Given the description of an element on the screen output the (x, y) to click on. 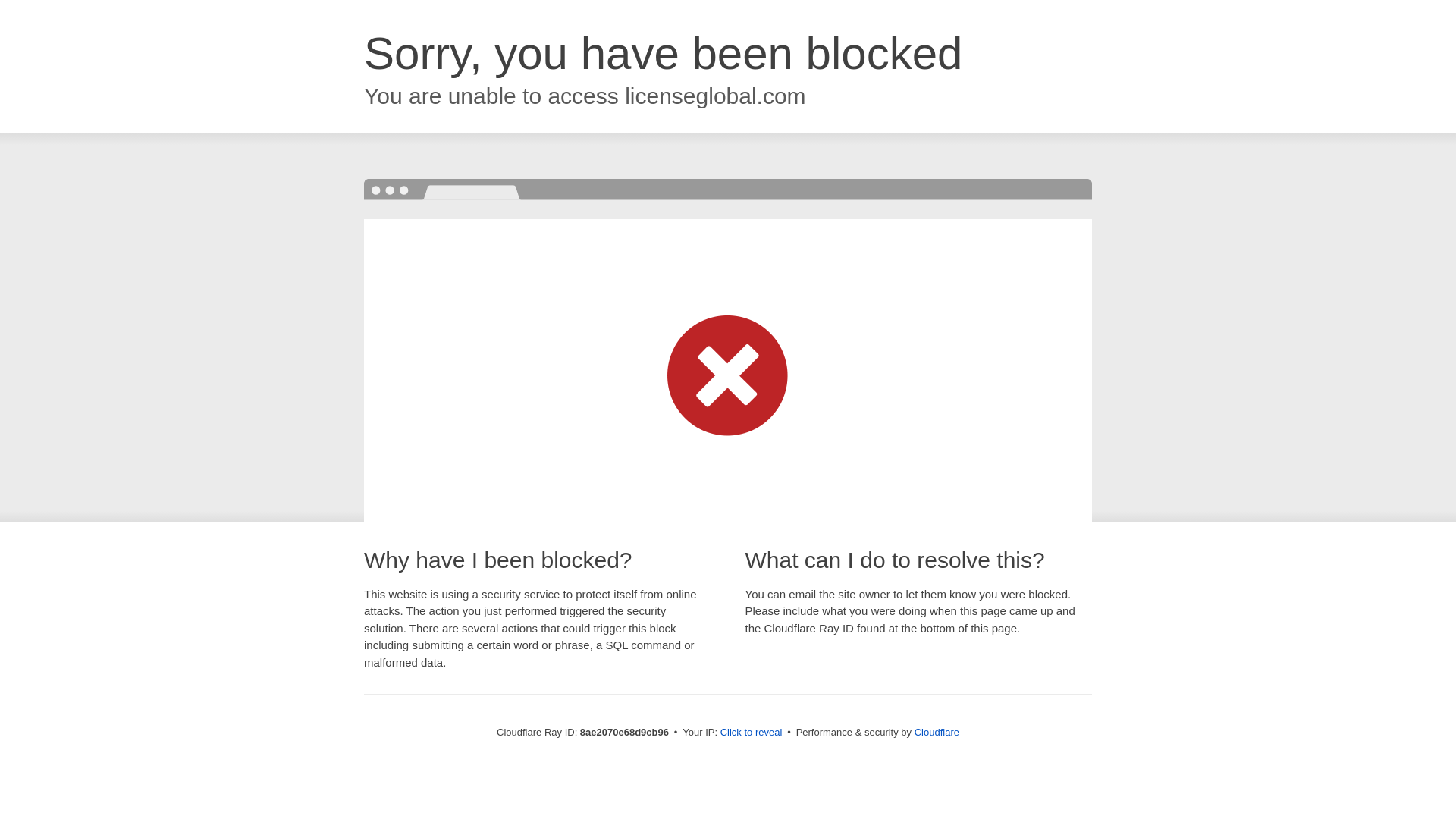
Cloudflare (936, 731)
Click to reveal (751, 732)
